Given the description of an element on the screen output the (x, y) to click on. 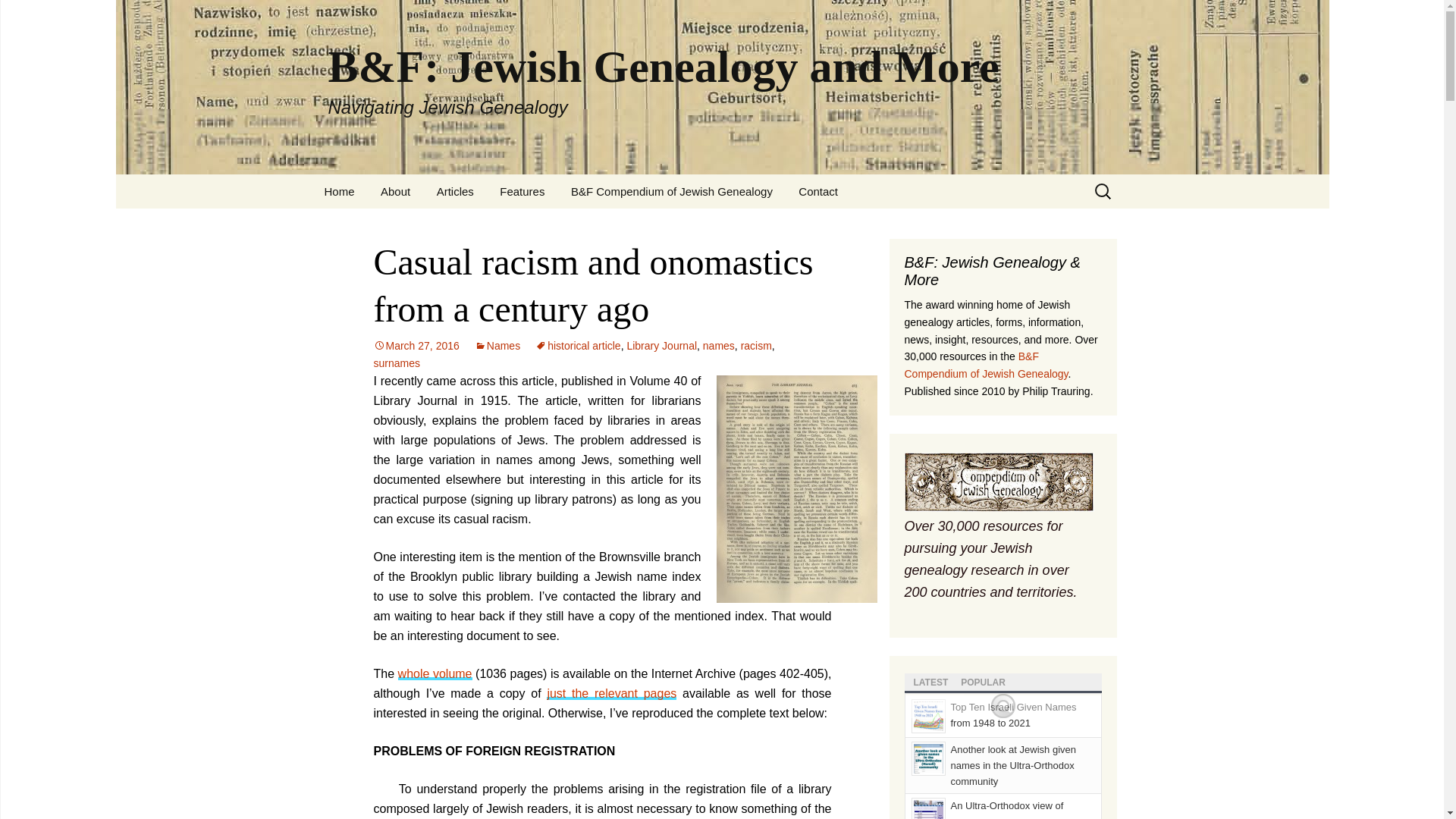
March 27, 2016 (415, 345)
Permalink to Casual racism and onomastics from a century ago (415, 345)
historical article (577, 345)
Home (339, 191)
whole volume (434, 673)
Articles (454, 191)
About (395, 191)
Features (521, 191)
just the relevant pages (612, 693)
